Given the description of an element on the screen output the (x, y) to click on. 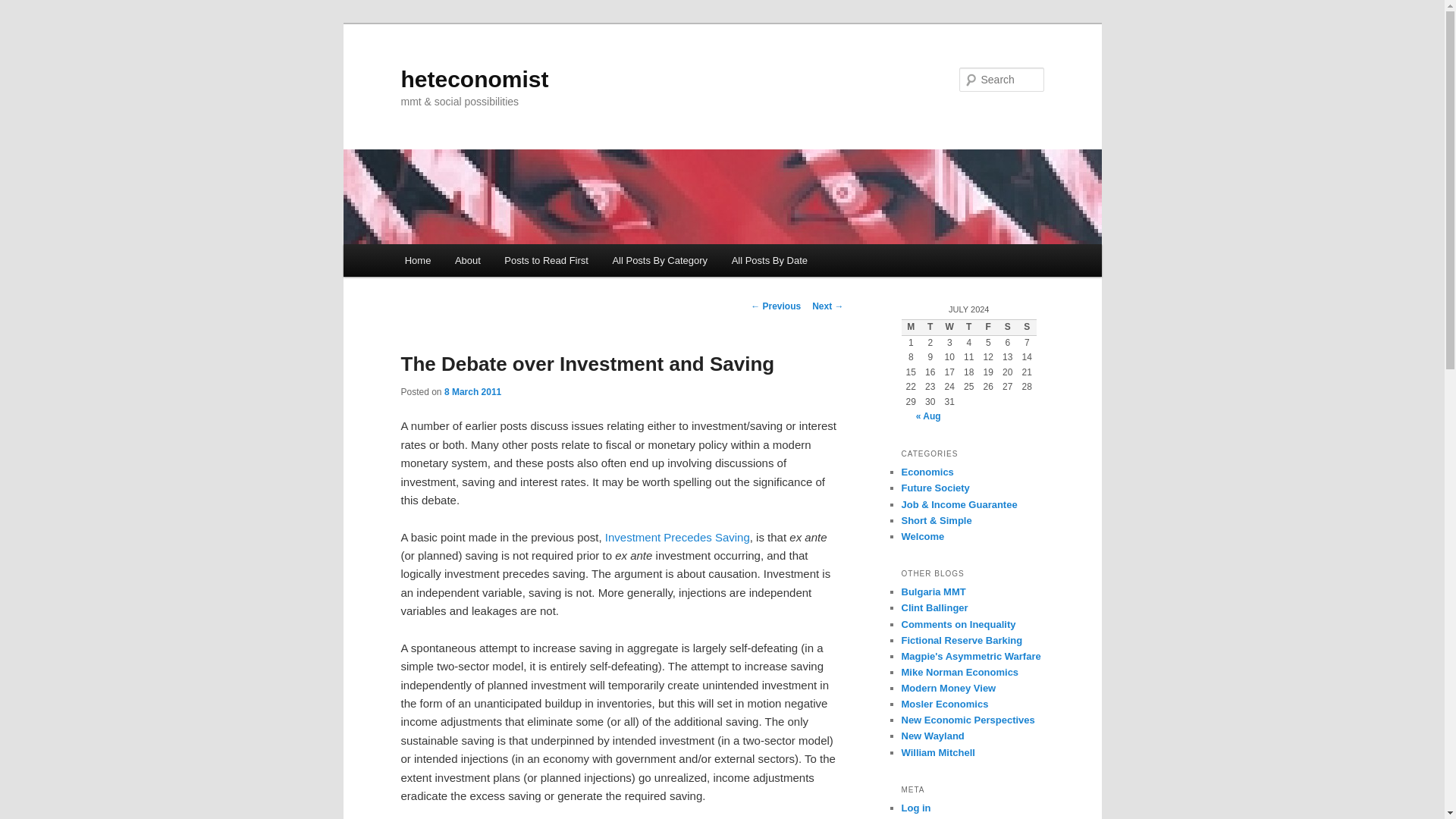
Modern Money View (948, 687)
Investment Precedes Saving (677, 536)
Fictional Reserve Barking (961, 640)
All Posts By Category (659, 260)
All Posts By Date (769, 260)
5:44 AM (472, 391)
Welcome (922, 536)
Comments on Inequality (957, 624)
Future Society (935, 487)
Search (24, 8)
Tuesday (930, 327)
heteconomist (474, 78)
Thursday (968, 327)
Monday (910, 327)
About (467, 260)
